Given the description of an element on the screen output the (x, y) to click on. 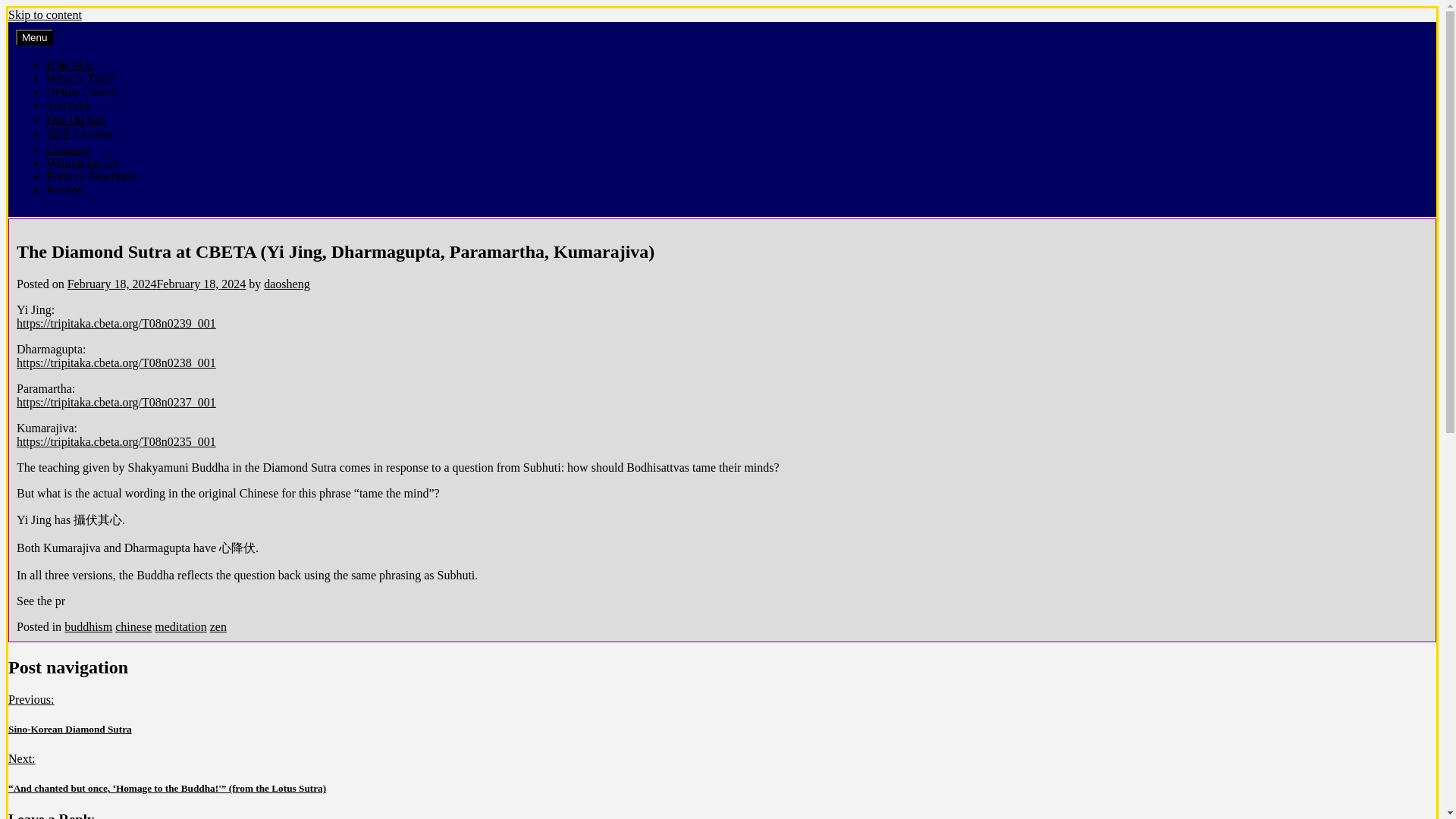
Skip to content (44, 14)
Writing the Ox (82, 162)
zen (218, 626)
What Is This? (79, 78)
Chanting (68, 148)
daosheng (285, 283)
Furnace Mountain (90, 175)
meditation (180, 626)
Patreon (64, 189)
Dae Do Sah (75, 119)
YouTube (68, 105)
chinese (133, 626)
February 18, 2024February 18, 2024 (156, 283)
mindisbuddha.org (59, 35)
buddhism (88, 626)
